Given the description of an element on the screen output the (x, y) to click on. 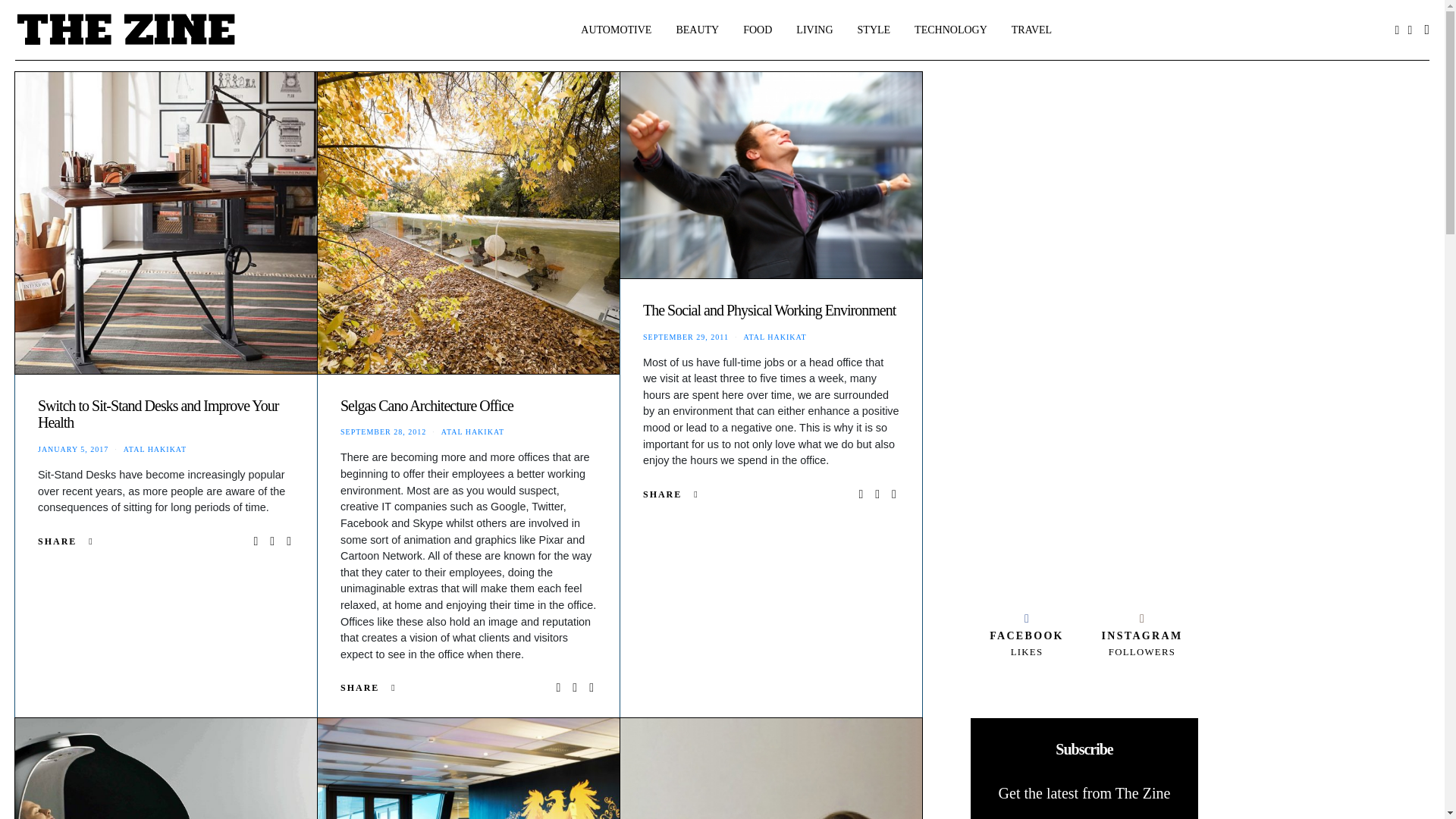
View all posts by Atal Hakikat (774, 336)
ATAL HAKIKAT (472, 431)
Selgas Cano Architecture Office (426, 405)
The Social and Physical Working Environment 3 (770, 175)
AUTOMOTIVE (615, 29)
Switch to Sit-Stand Desks and Improve Your Health 1 (165, 222)
View all posts by Atal Hakikat (472, 431)
Selgas Cano Architecture Office 2 (468, 222)
Sick of Sickies 6 (770, 768)
TECHNOLOGY (950, 29)
View all posts by Atal Hakikat (154, 449)
ATAL HAKIKAT (154, 449)
Snooze Rooms 4 (165, 768)
Switch to Sit-Stand Desks and Improve Your Health (157, 414)
SEPTEMBER 28, 2012 (383, 431)
